Given the description of an element on the screen output the (x, y) to click on. 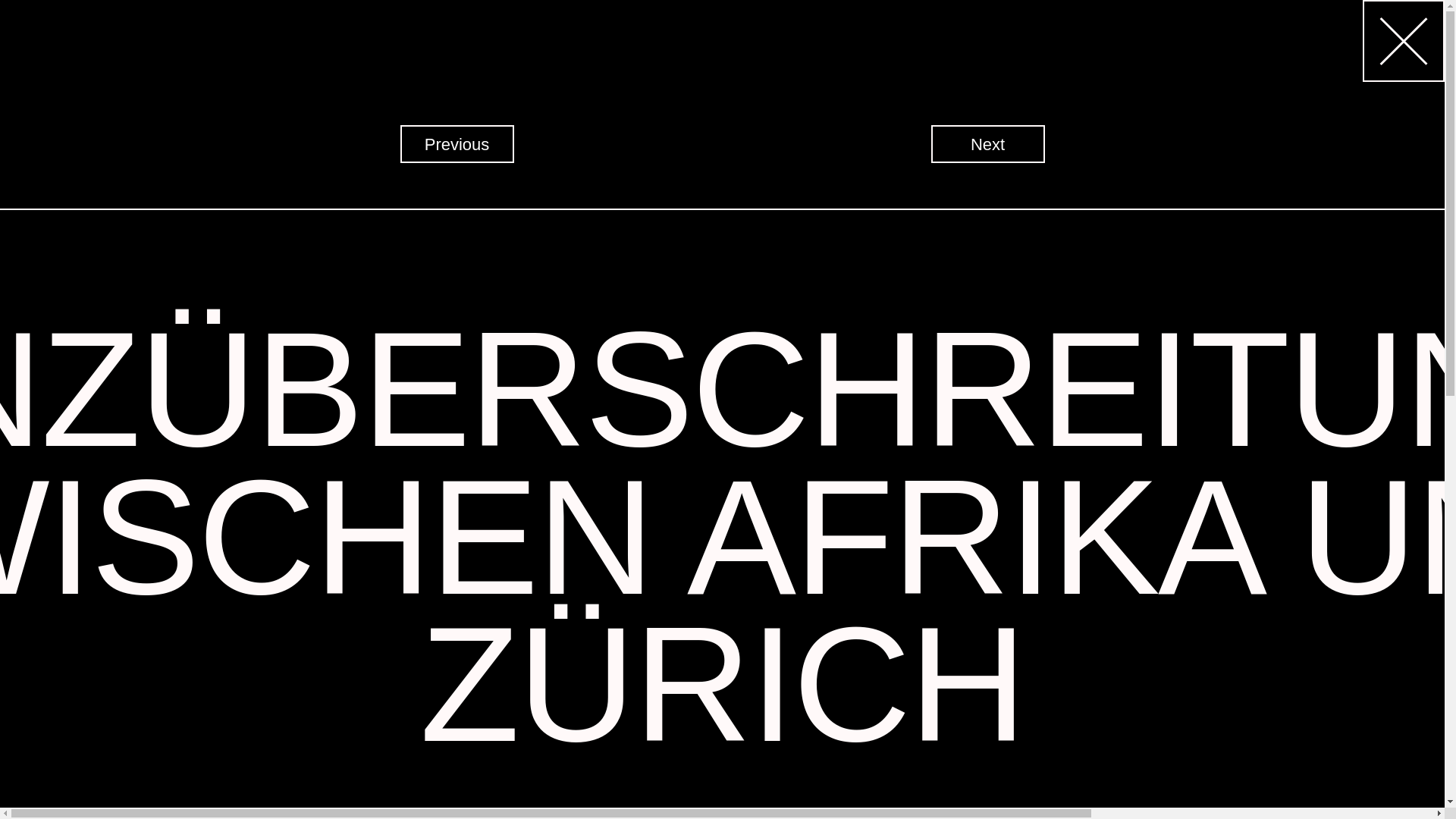
Previous Element type: text (457, 144)
Next Element type: text (987, 144)
